Given the description of an element on the screen output the (x, y) to click on. 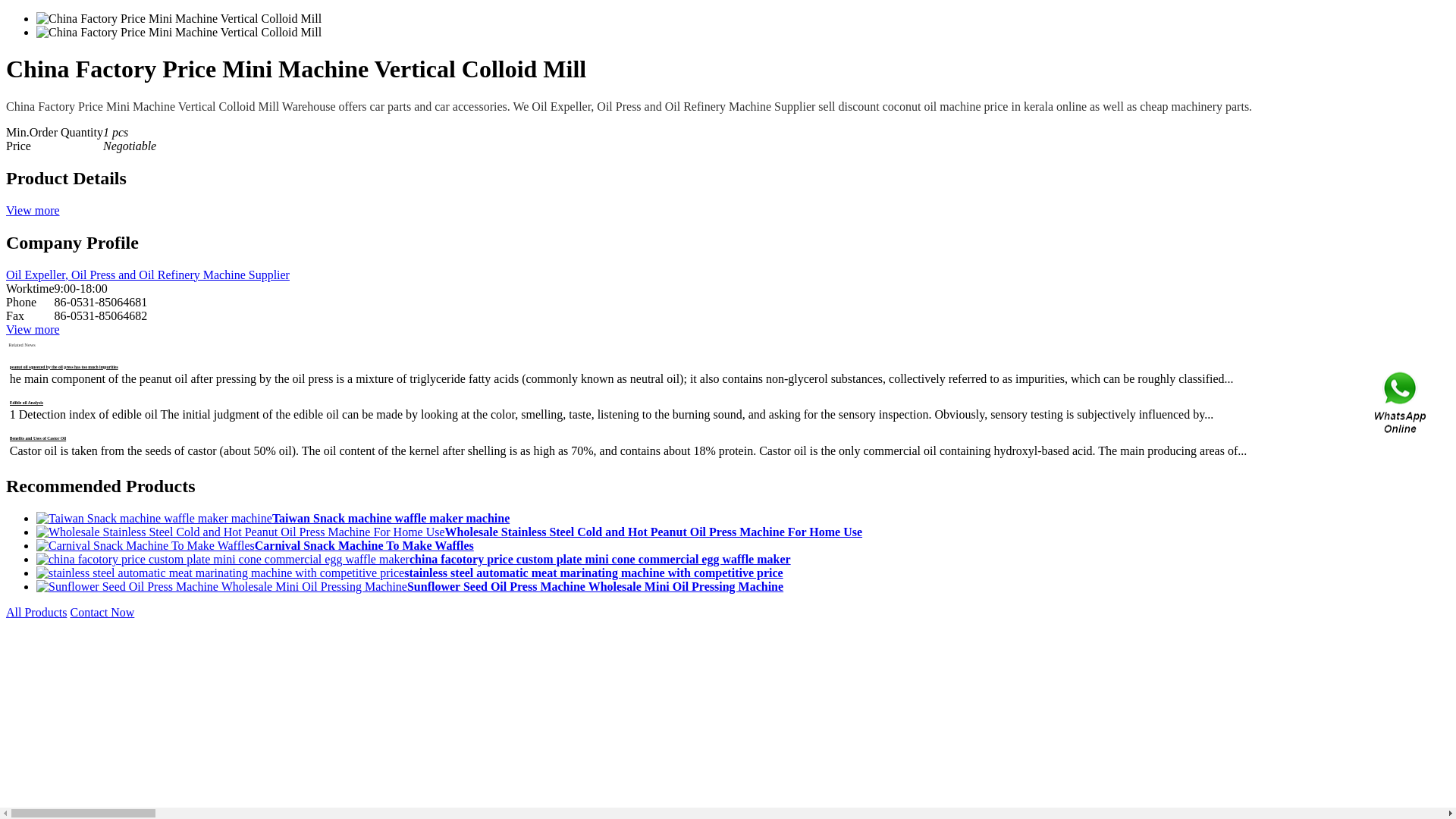
View more (32, 210)
Benefits and Uses of Castor Oil (37, 437)
peanut oil squeezed by the oil press has too much impurities (63, 366)
Oil Expeller, Oil Press and Oil Refinery Machine Supplier (147, 274)
Benefits and Uses of Castor Oil (37, 437)
Edible oil Analysis (26, 402)
